Given the description of an element on the screen output the (x, y) to click on. 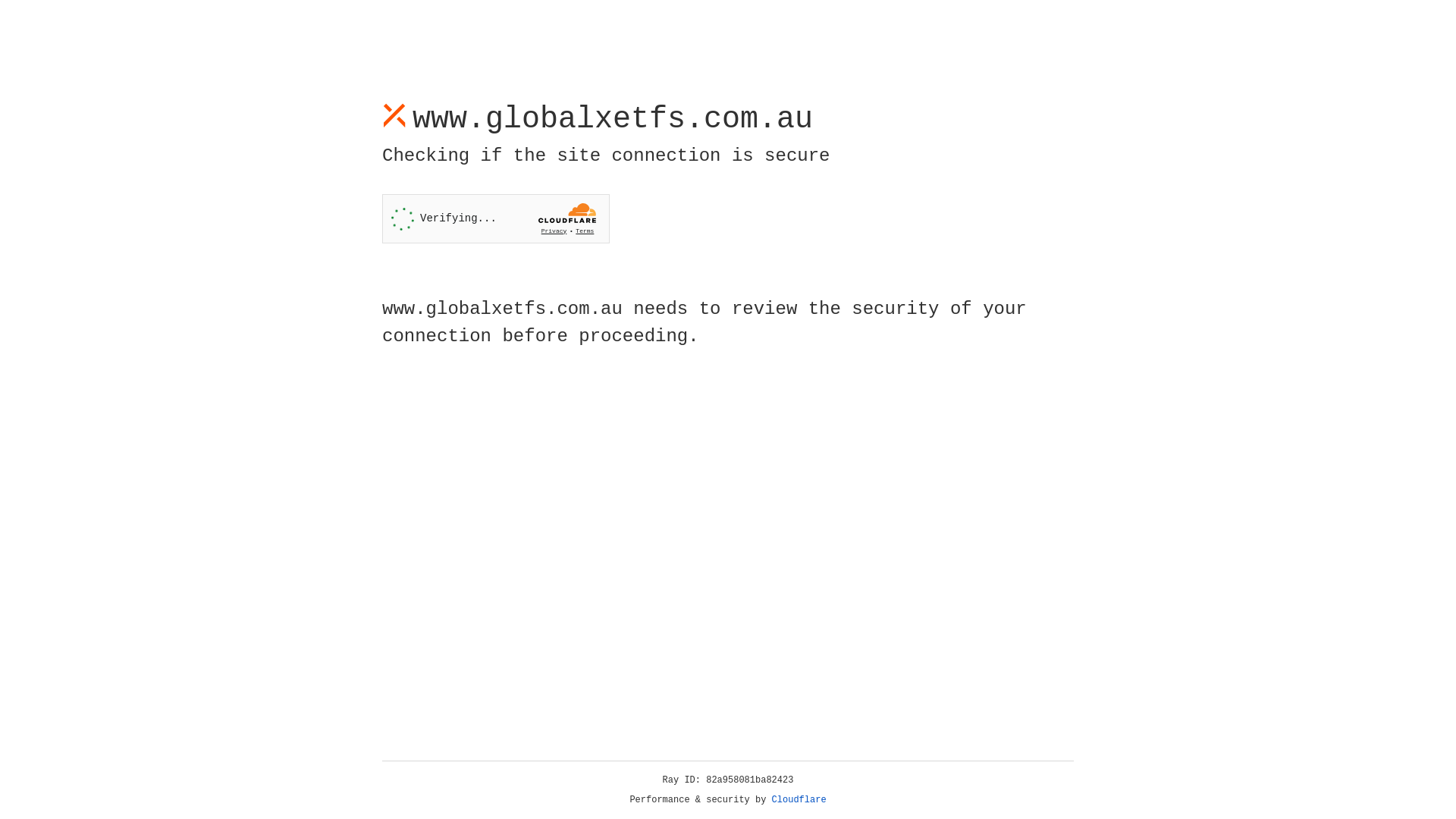
Cloudflare Element type: text (798, 799)
Widget containing a Cloudflare security challenge Element type: hover (495, 218)
